Given the description of an element on the screen output the (x, y) to click on. 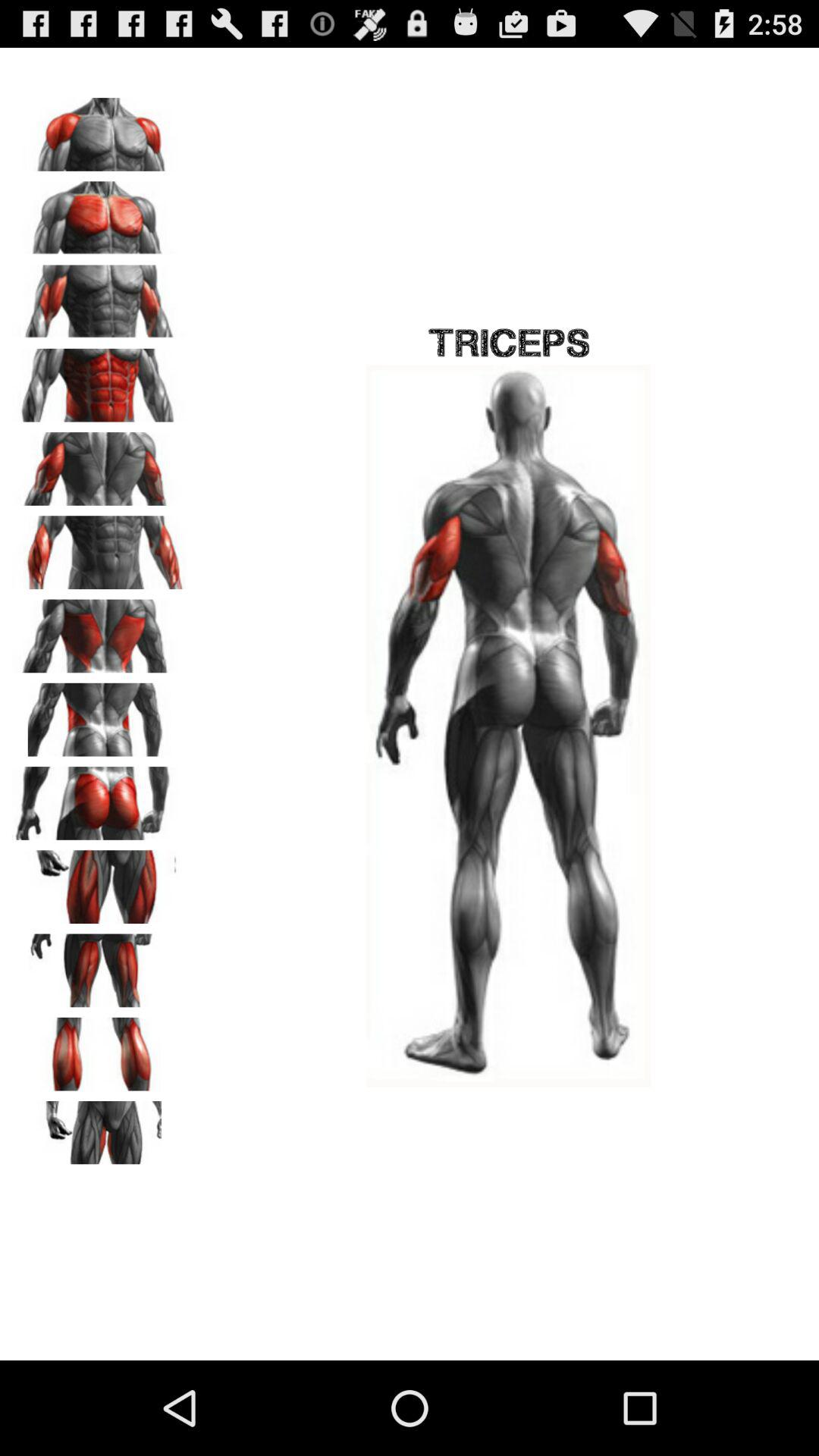
select this muscle group (99, 798)
